Given the description of an element on the screen output the (x, y) to click on. 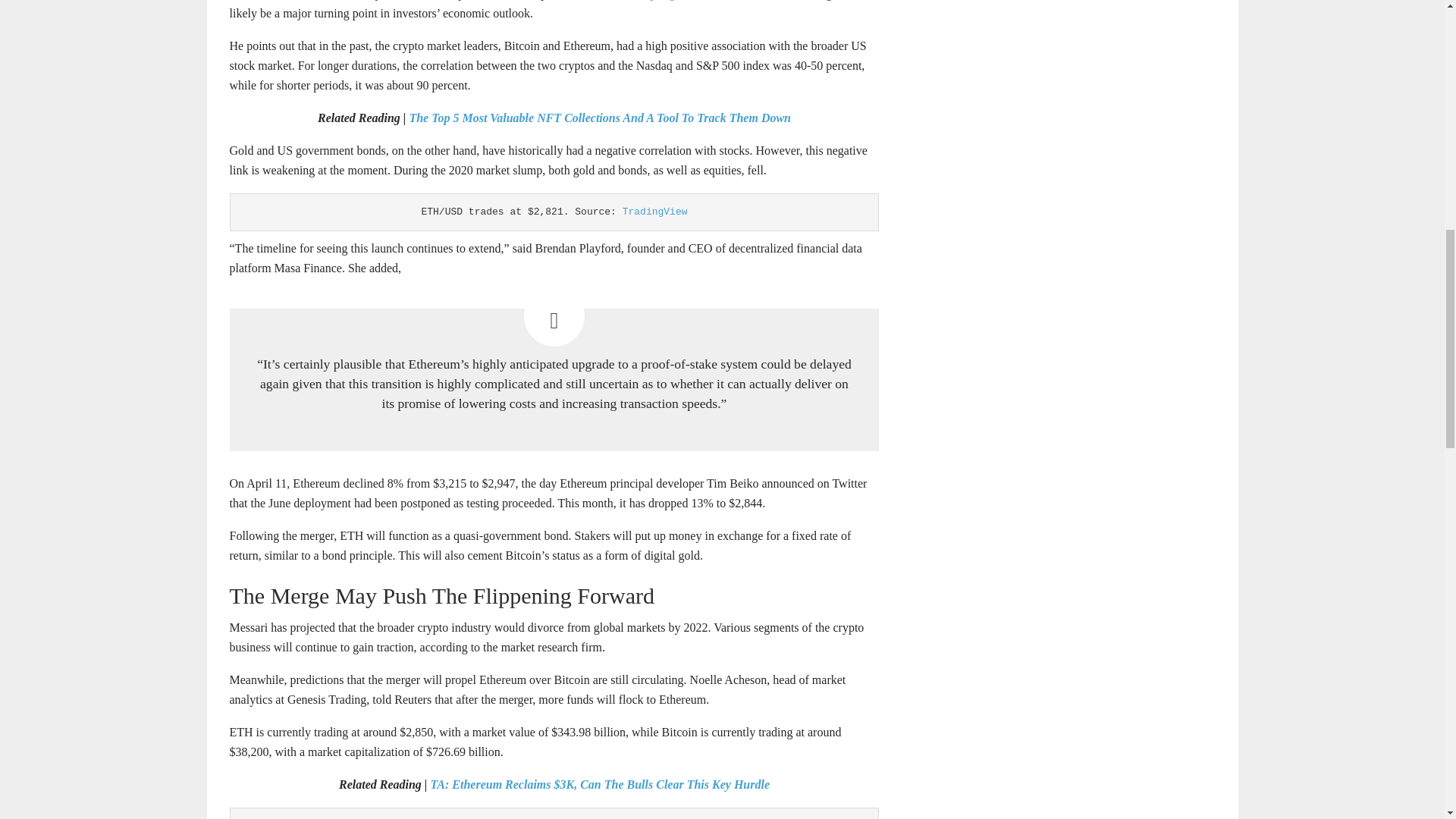
TradingView (655, 211)
